Given the description of an element on the screen output the (x, y) to click on. 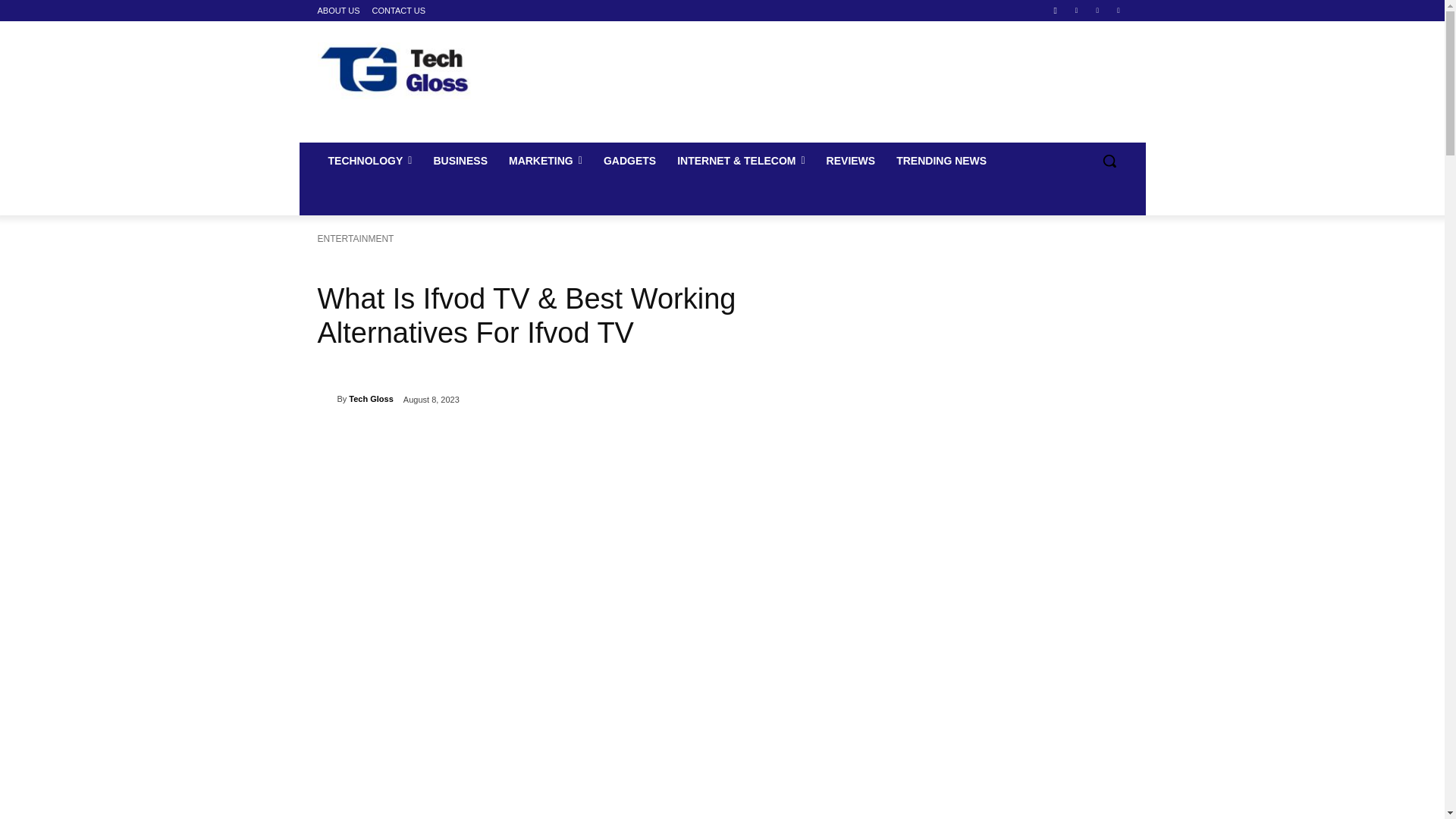
CONTACT US (399, 10)
Twitter (1117, 9)
Tech Gloss (326, 398)
Facebook (1055, 9)
ABOUT US (338, 10)
Pinterest (1097, 9)
View all posts in ENTERTAINMENT (355, 238)
TECH GLOSS LOGO (419, 70)
Linkedin (1075, 9)
